Given the description of an element on the screen output the (x, y) to click on. 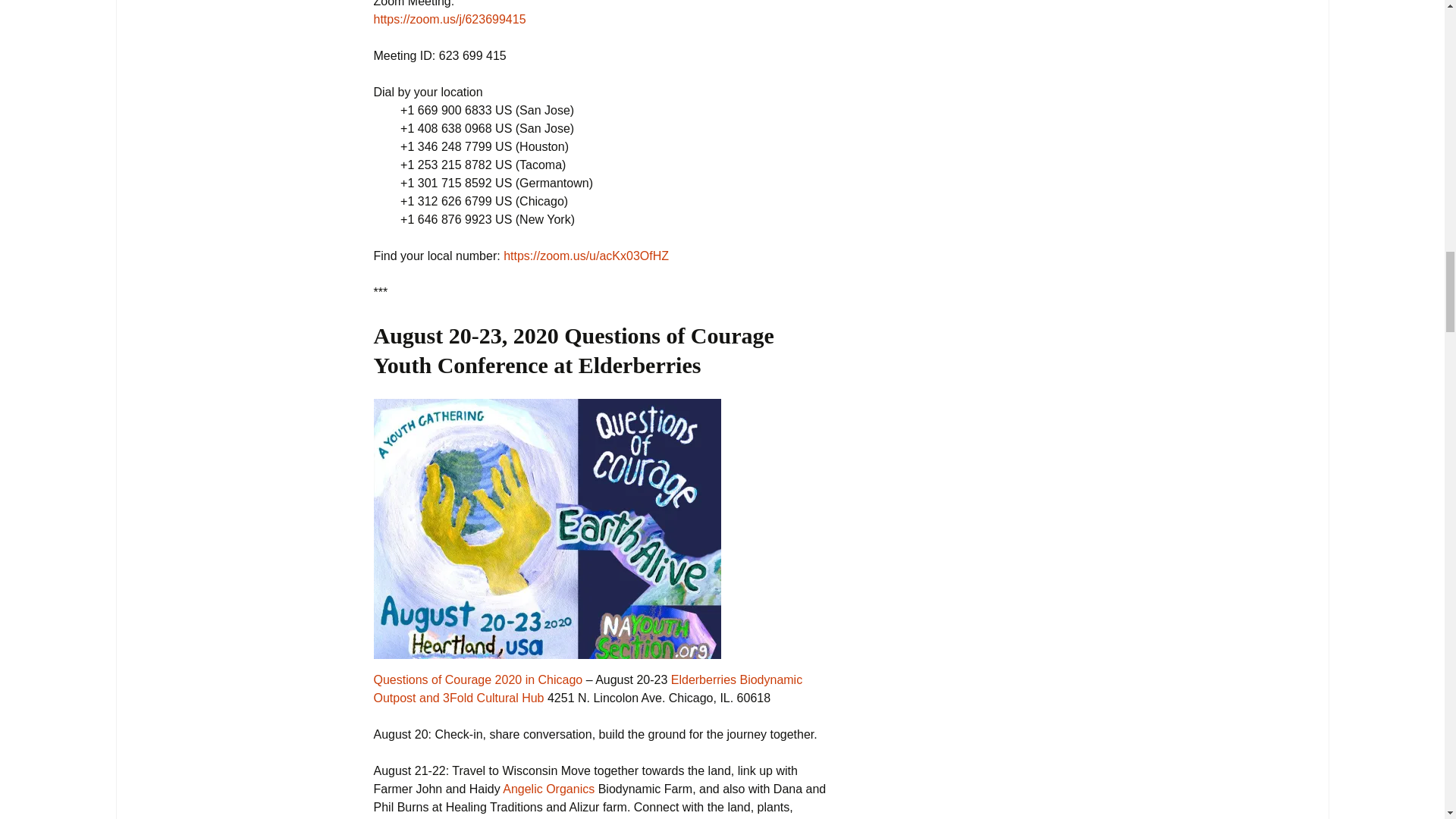
Elderberries Biodynamic Outpost and 3Fold Cultural Hub (587, 688)
Angelic Organics (548, 788)
Questions of Courage 2020 in Chicago (477, 679)
